Given the description of an element on the screen output the (x, y) to click on. 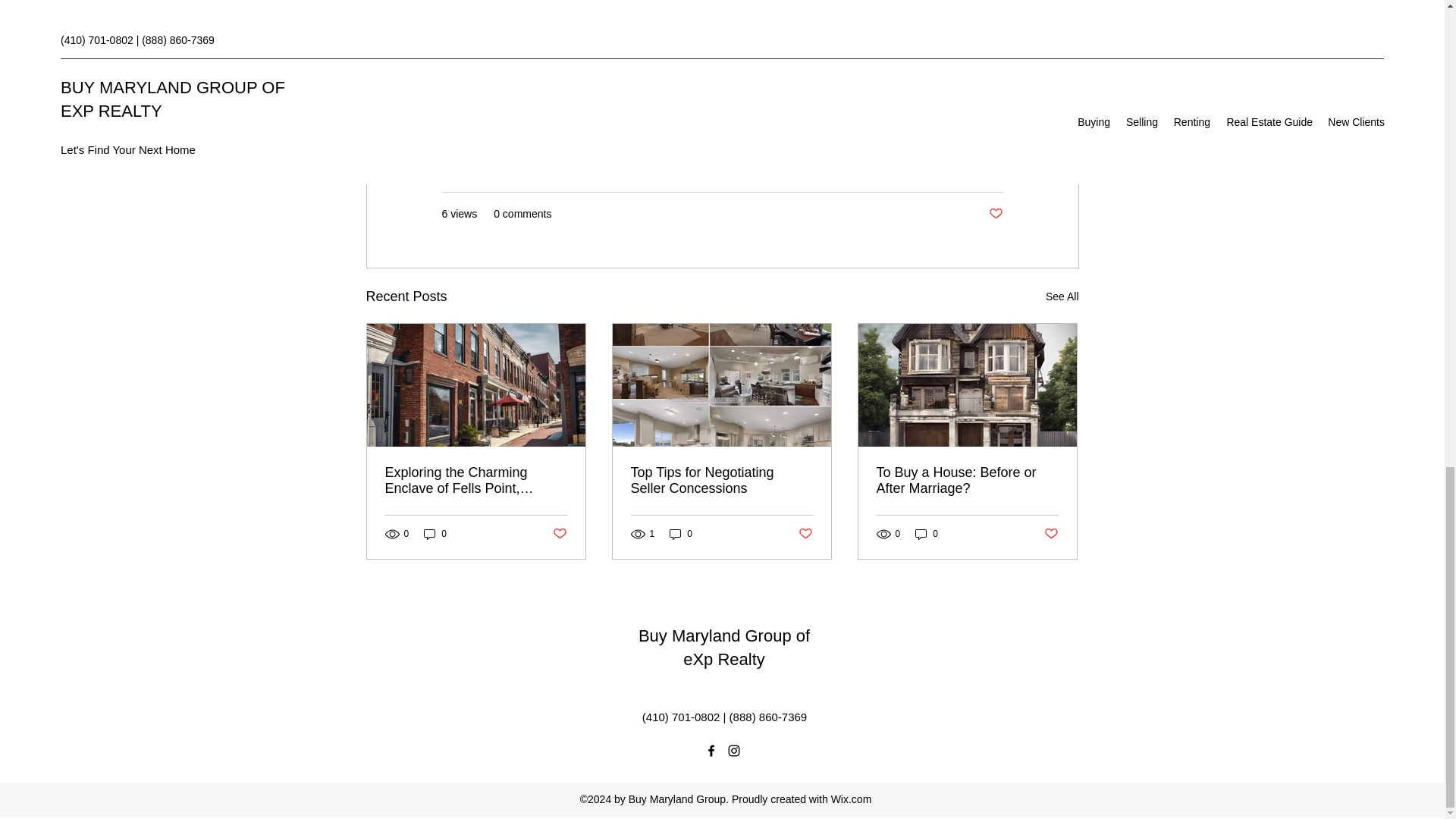
Post not marked as liked (1050, 534)
0 (435, 534)
Post not marked as liked (995, 213)
Post not marked as liked (558, 534)
See All (1061, 296)
0 (681, 534)
Top Tips for Negotiating Seller Concessions (721, 480)
Buy Maryland Group of eXp Realty (724, 647)
0 (926, 534)
To Buy a House: Before or After Marriage? (967, 480)
